Given the description of an element on the screen output the (x, y) to click on. 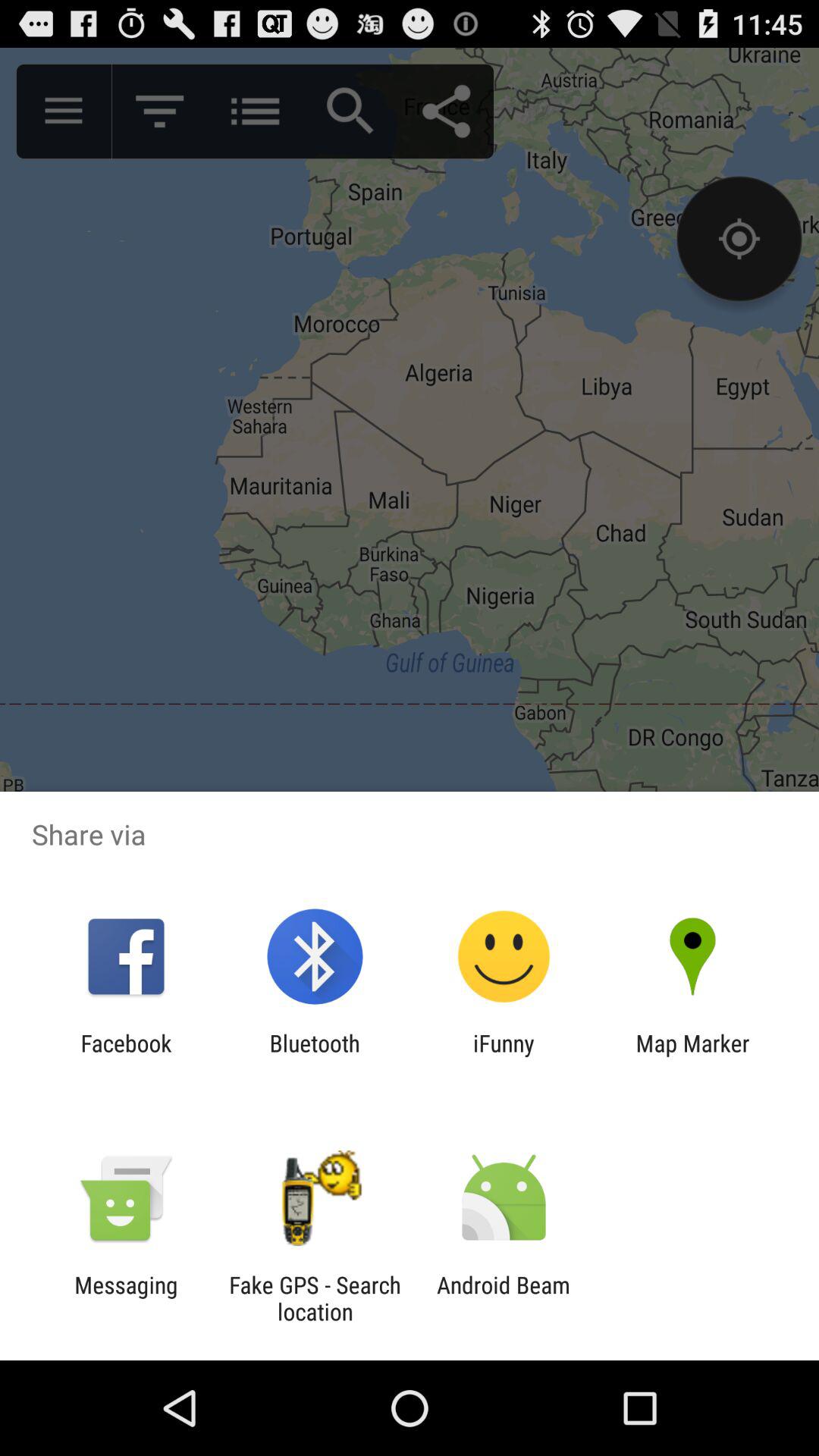
select the map marker icon (692, 1056)
